Given the description of an element on the screen output the (x, y) to click on. 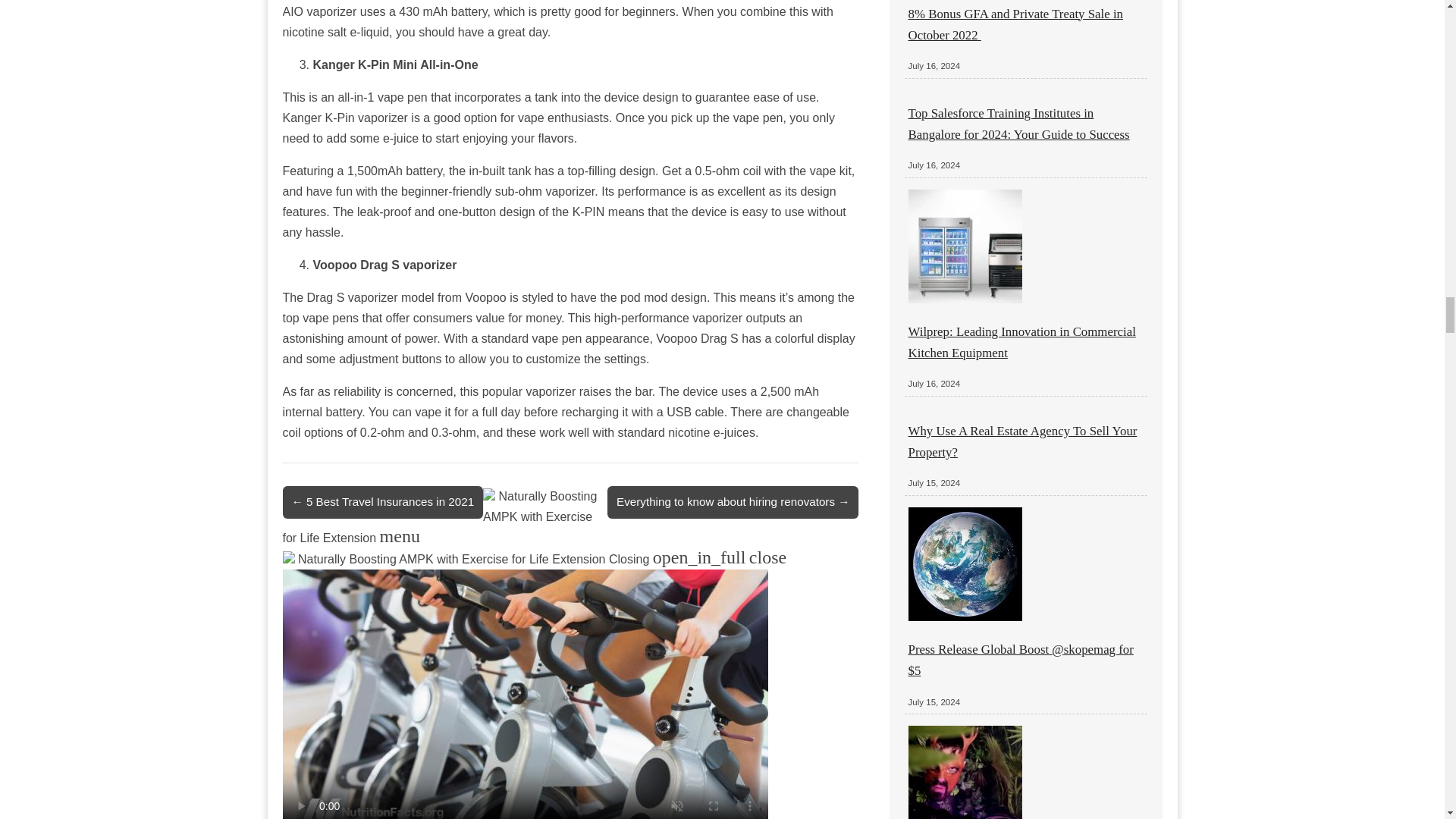
Wilprep: Leading Innovation in Commercial Kitchen Equipment (1021, 342)
Why Use A Real Estate Agency To Sell Your Property? (1022, 441)
